Given the description of an element on the screen output the (x, y) to click on. 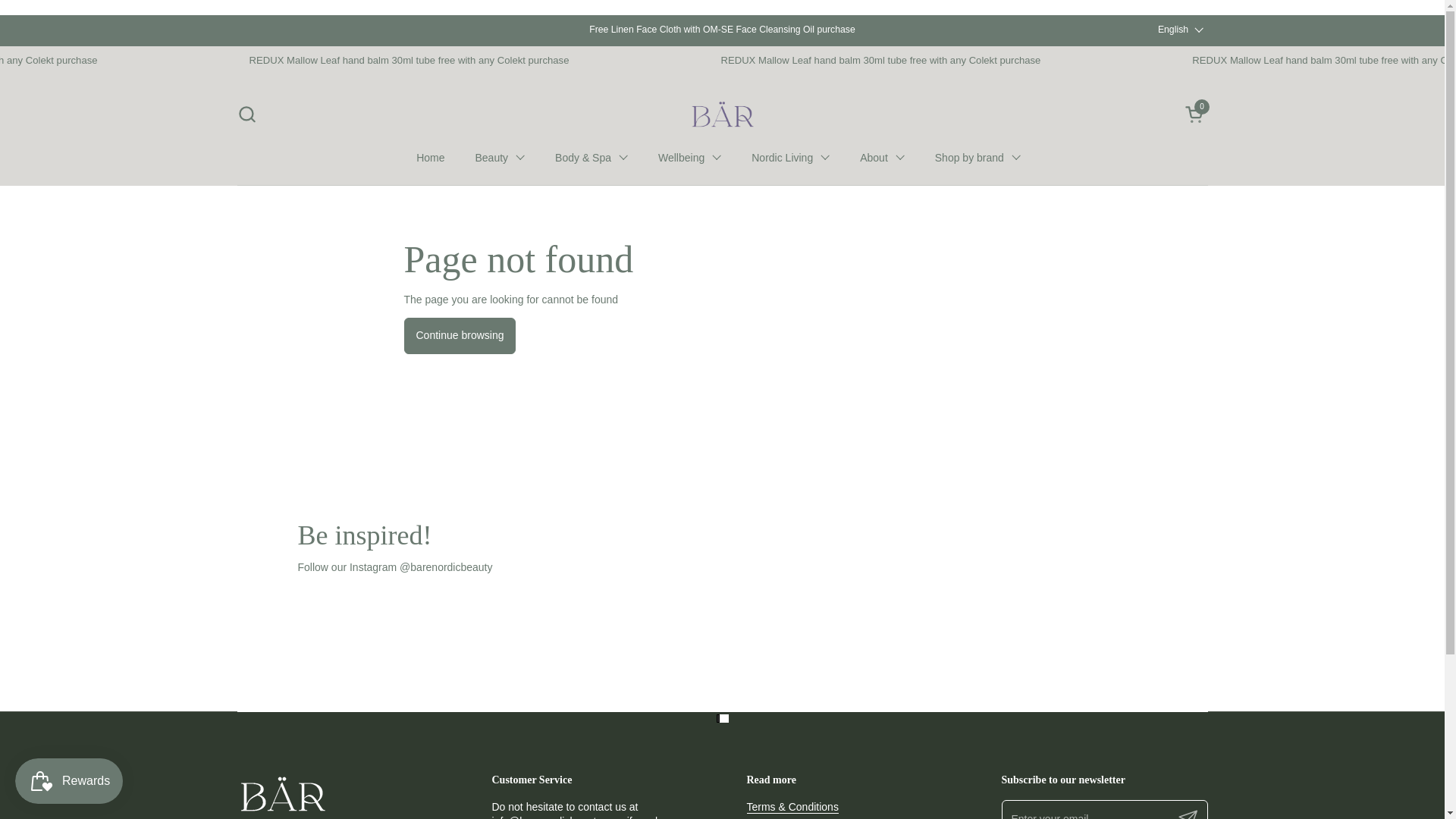
English (1196, 113)
Free Linen Face Cloth with OM-SE Face Cleansing Oil purchase (1180, 29)
About (722, 30)
Home (882, 157)
Beauty (430, 157)
Bare Nordic Beauty (500, 157)
Nordic Living (721, 114)
Skip to content (790, 157)
Smile.io Rewards Program Launcher (689, 157)
Open cart (68, 780)
Open search (1196, 113)
